Given the description of an element on the screen output the (x, y) to click on. 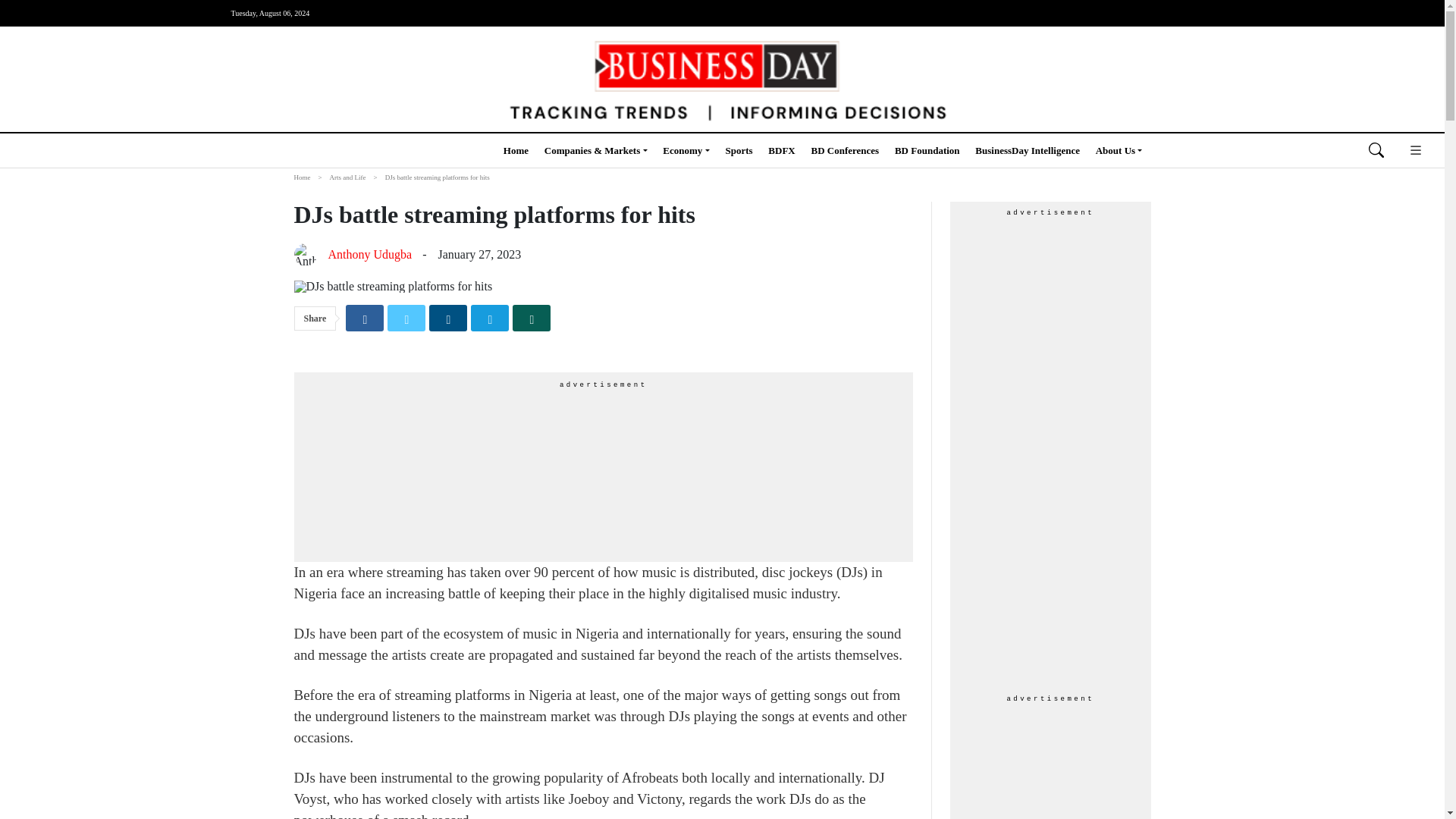
Economy (685, 149)
BD Foundation (927, 149)
About Us (1119, 149)
BD Conferences (844, 149)
BusinessDay Intelligence (1027, 149)
BD Foundation (927, 149)
BusinessDay Intelligence (1027, 149)
BD Conferences (844, 149)
About Us (1119, 149)
Economy (685, 149)
